Given the description of an element on the screen output the (x, y) to click on. 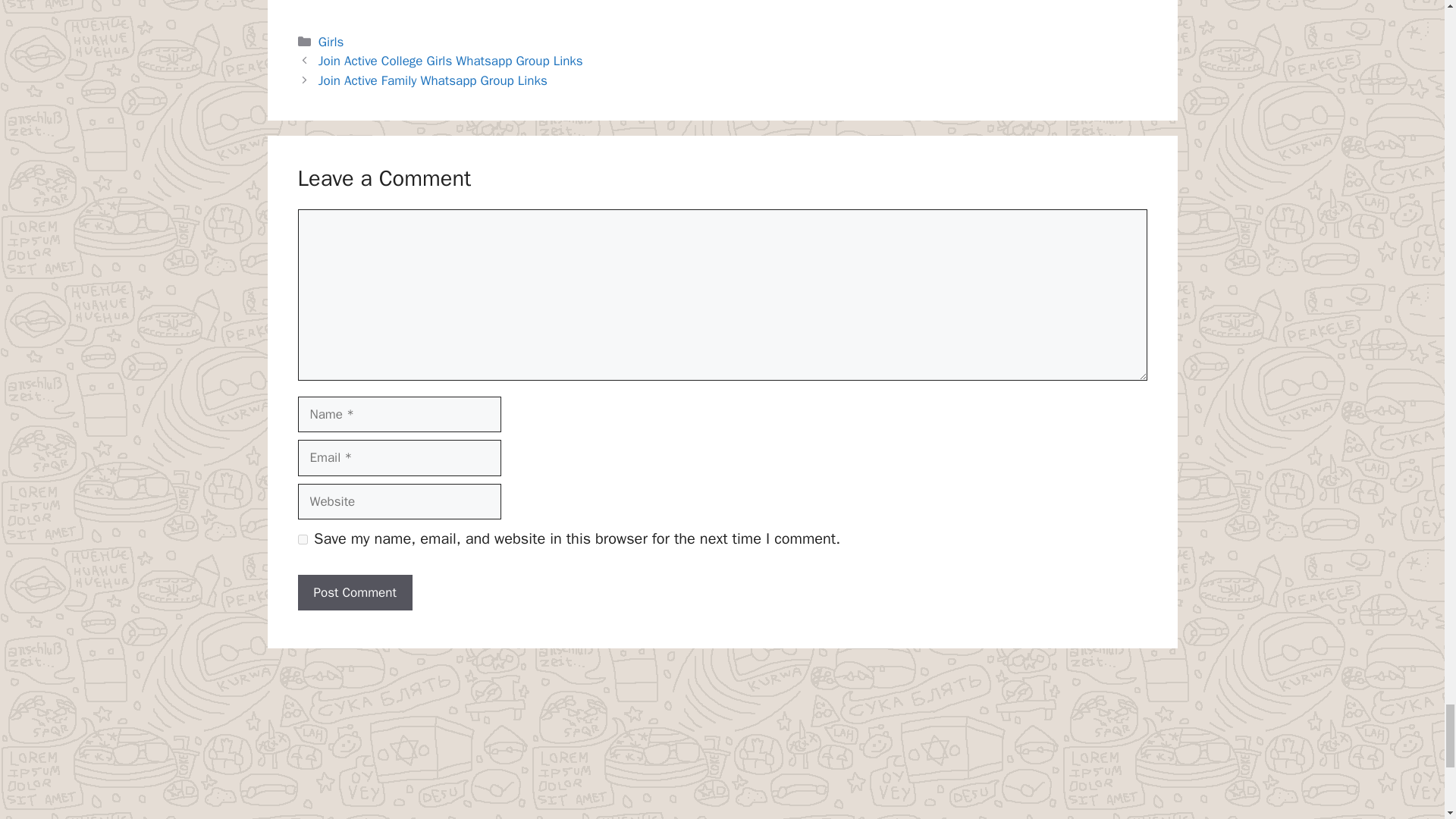
Post Comment (354, 592)
yes (302, 539)
